Given the description of an element on the screen output the (x, y) to click on. 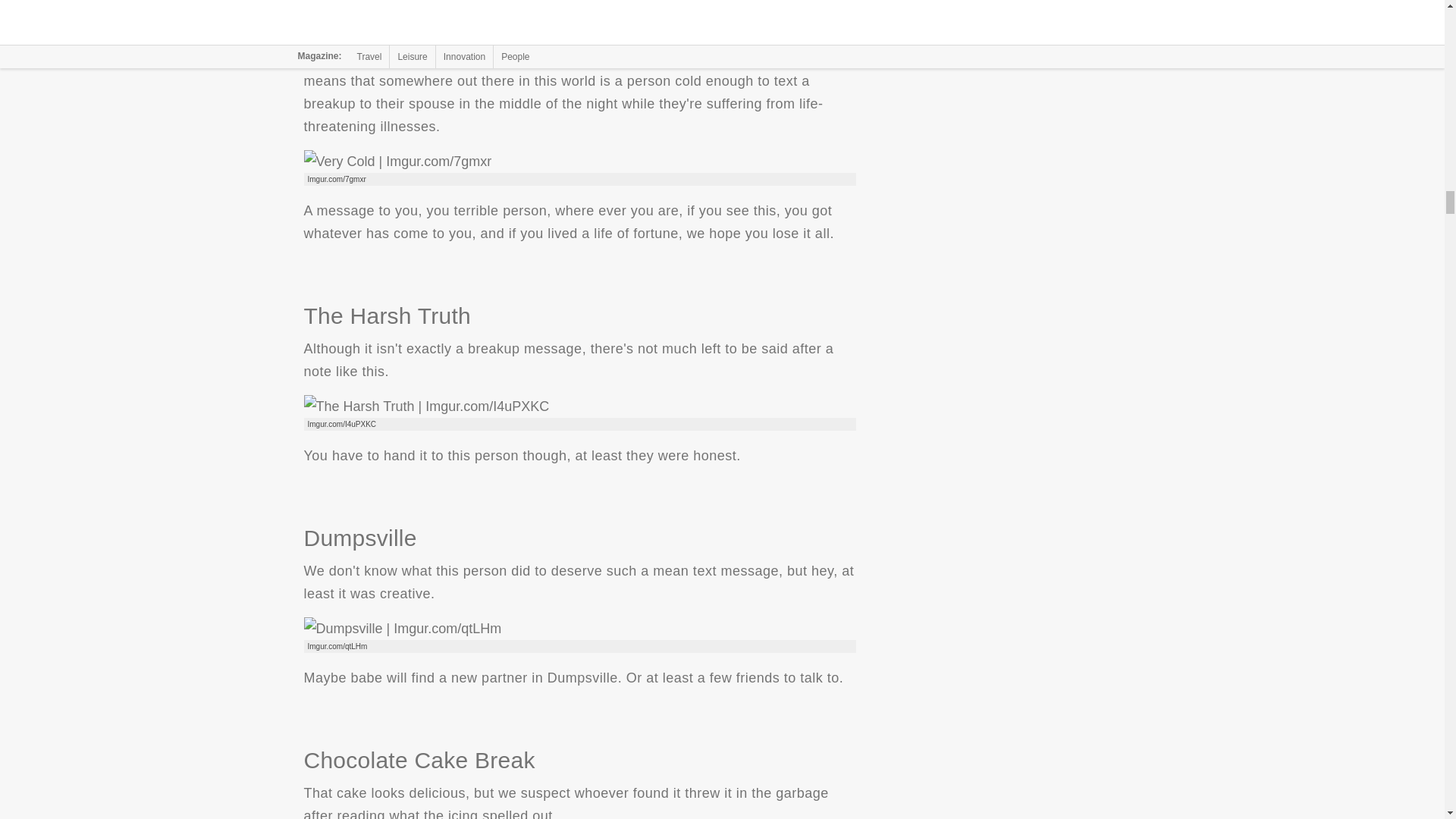
The Harsh Truth (425, 405)
Very Cold (397, 160)
